Given the description of an element on the screen output the (x, y) to click on. 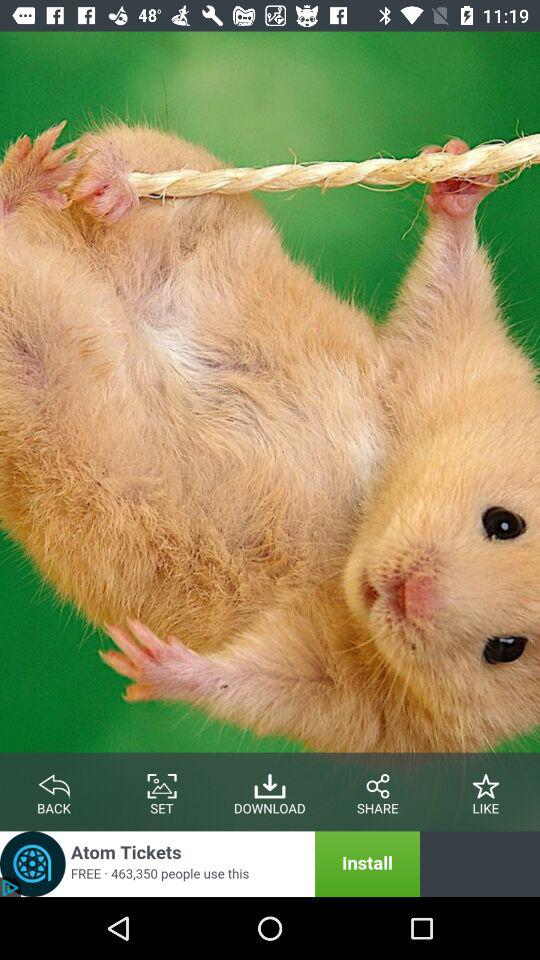
close advertisement (210, 864)
